Given the description of an element on the screen output the (x, y) to click on. 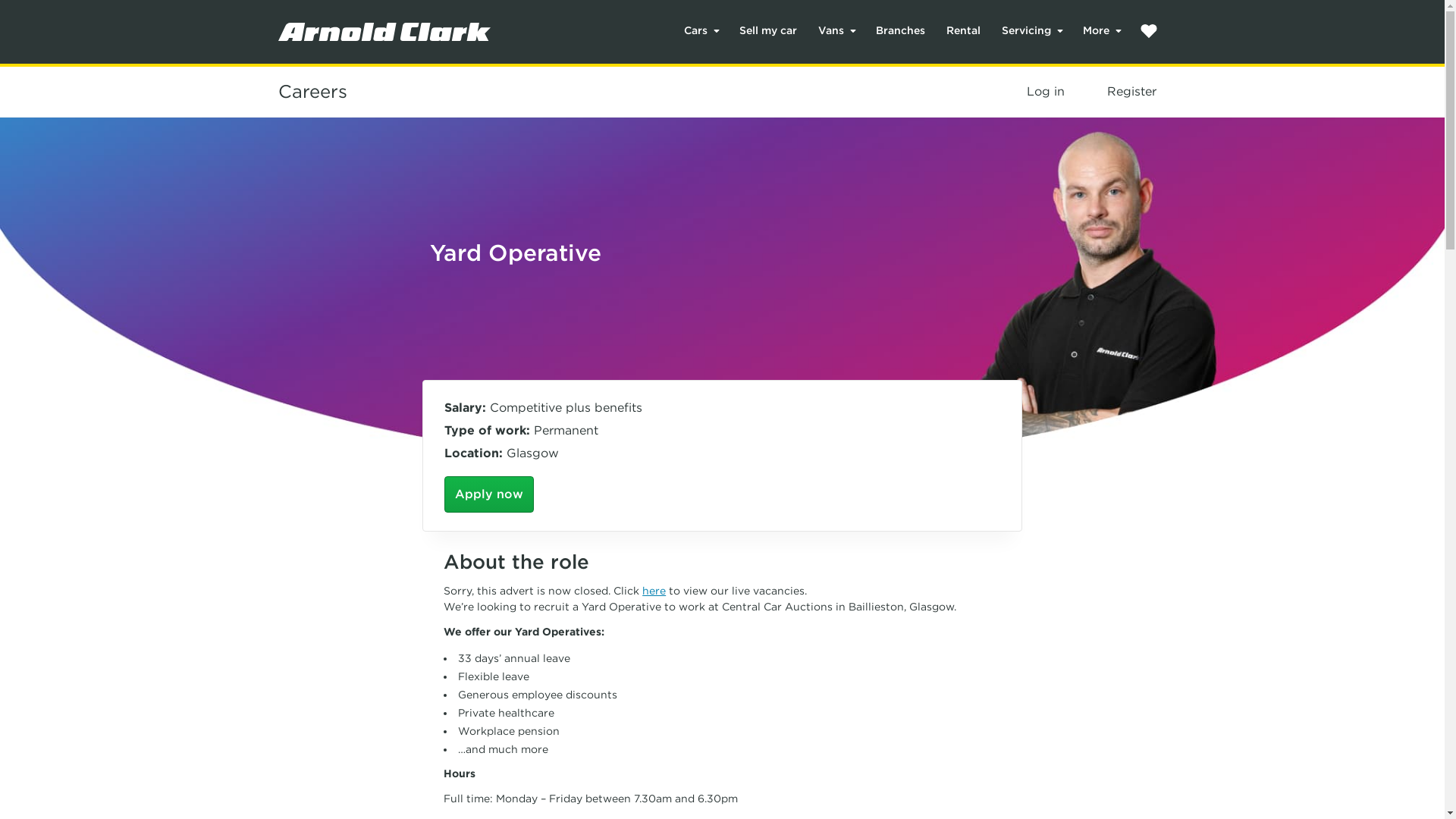
Register (1131, 91)
Cars (700, 30)
Arnold Clark Careers (312, 91)
